Given the description of an element on the screen output the (x, y) to click on. 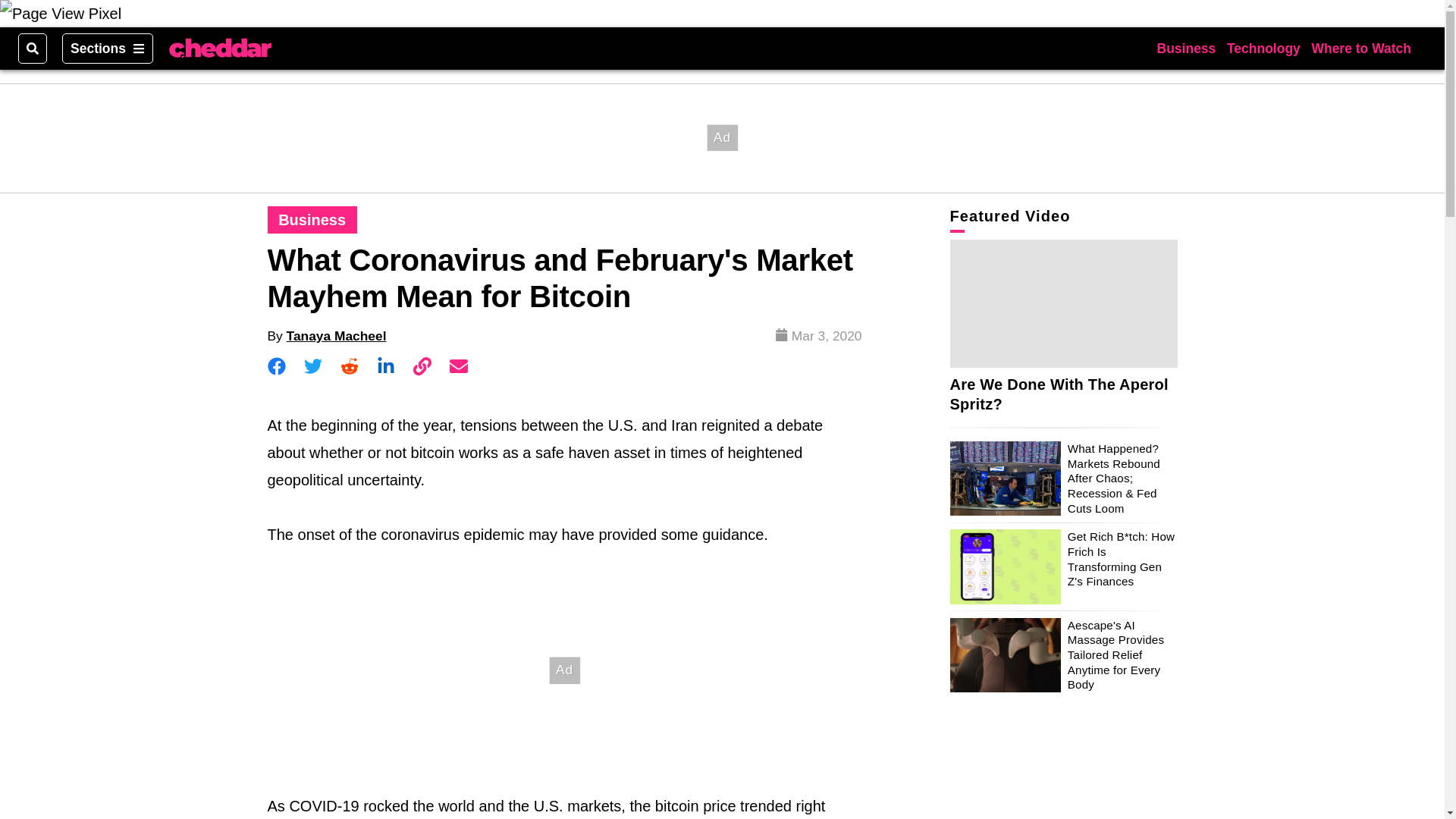
Tanaya Macheel (336, 335)
Are We Done With The Aperol Spritz? (1058, 393)
Where to Watch (1360, 48)
Business (312, 219)
Cheddar Logo (220, 47)
Sections (107, 48)
Business (1186, 48)
Technology (1263, 48)
